Given the description of an element on the screen output the (x, y) to click on. 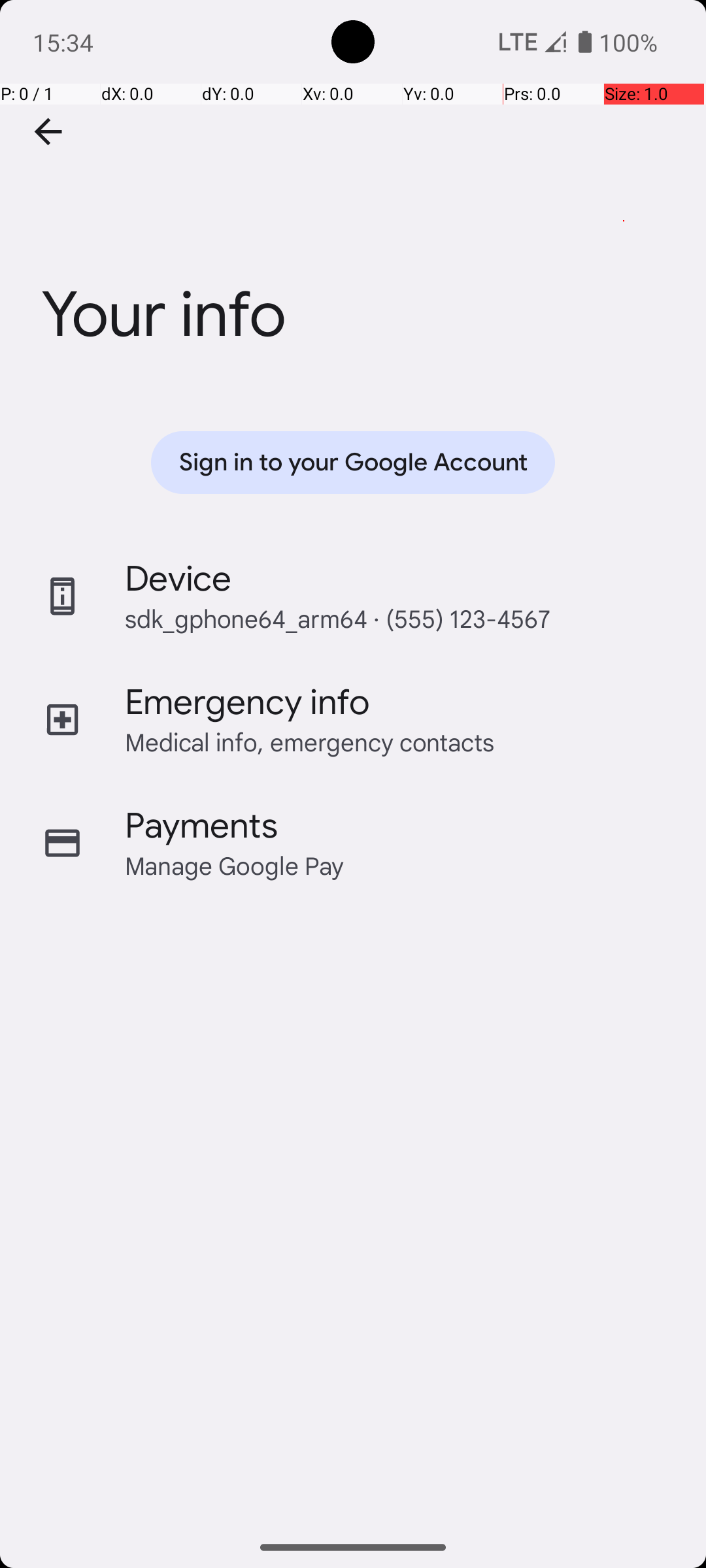
Sign in to your Google Account Element type: android.widget.Button (352, 462)
sdk_gphone64_arm64 · (555) 123-4567 Element type: android.widget.TextView (337, 618)
Emergency info Element type: android.widget.TextView (246, 702)
Medical info, emergency contacts Element type: android.widget.TextView (309, 741)
Payments Element type: android.widget.TextView (200, 825)
Manage Google Pay Element type: android.widget.TextView (234, 865)
